Given the description of an element on the screen output the (x, y) to click on. 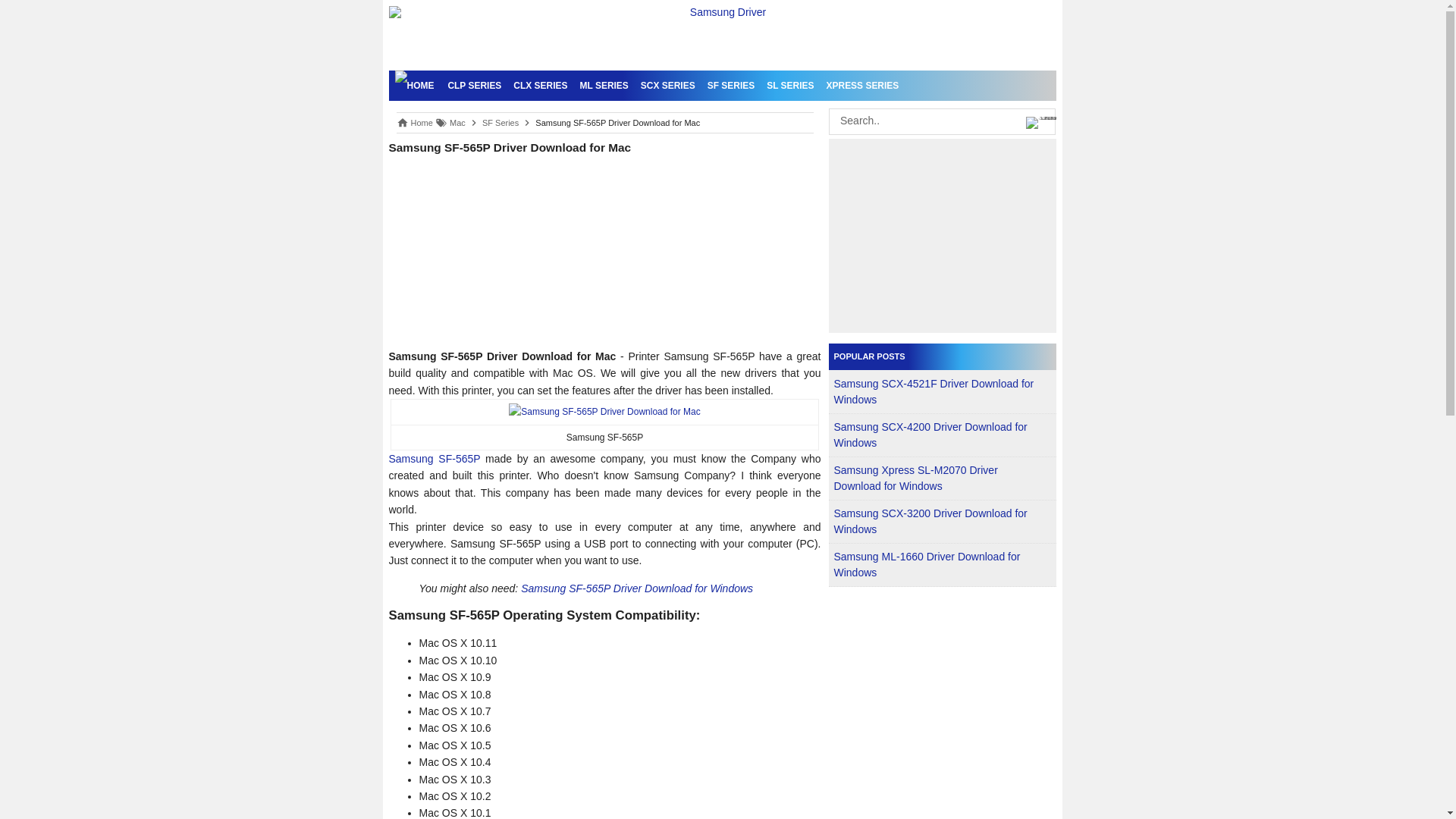
Samsung SCX-3200 Driver Download for Windows (930, 520)
Samsung ML-1660 Driver Download for Windows (927, 564)
SF Series (499, 122)
Samsung SF-565P (434, 458)
Mac (457, 122)
SF Series (499, 122)
Home (421, 122)
Samsung SCX-4521F Driver Download for Windows (933, 391)
ML SERIES (603, 85)
CLP SERIES (473, 85)
